Given the description of an element on the screen output the (x, y) to click on. 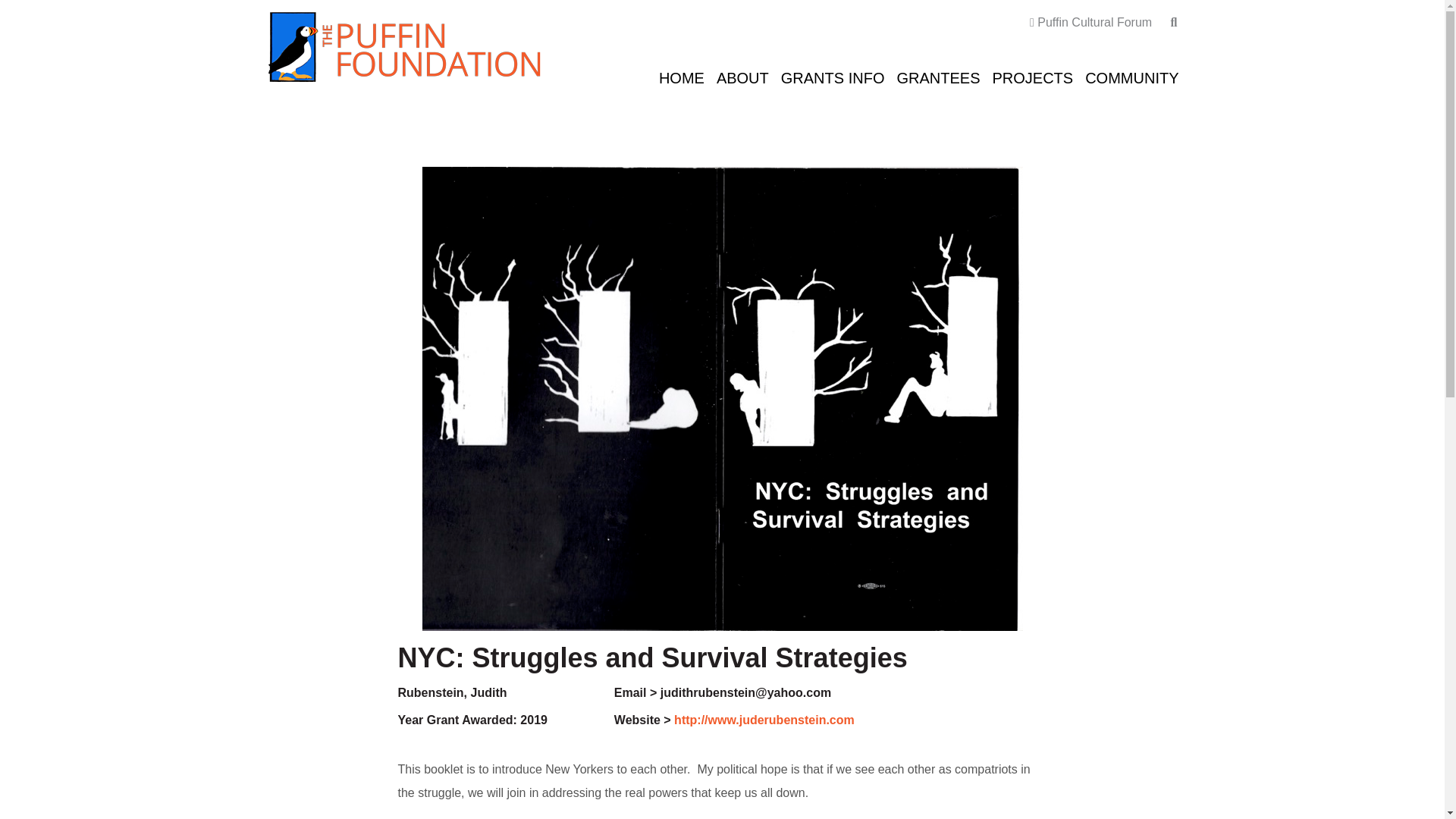
GRANTEES (937, 76)
PROJECTS (1031, 76)
ABOUT (742, 76)
GRANTS INFO (832, 76)
The Puffin Foundation (403, 45)
HOME (681, 76)
COMMUNITY (1131, 76)
Puffin Cultural Forum (1098, 21)
